Given the description of an element on the screen output the (x, y) to click on. 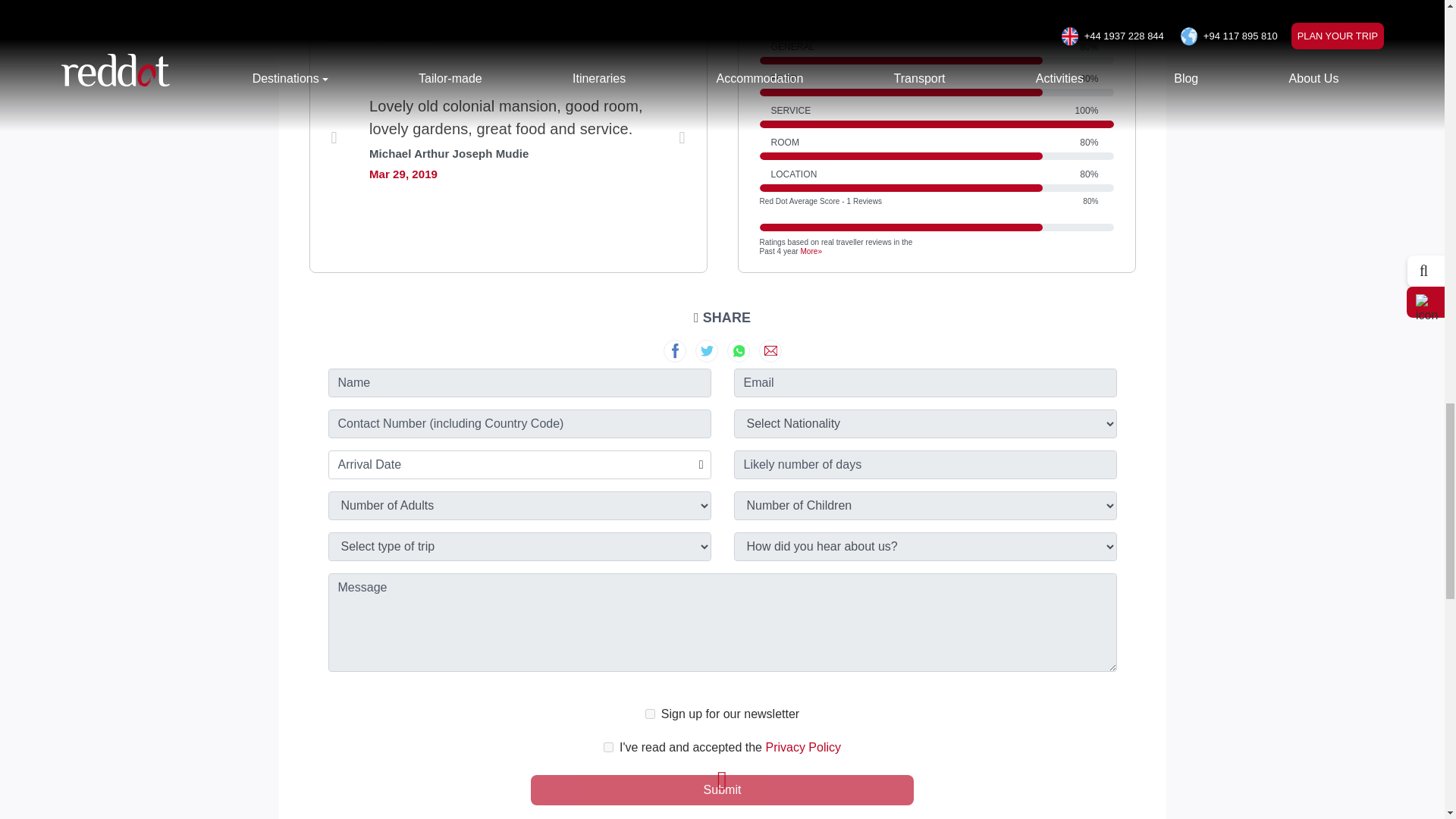
Submit (722, 789)
on (608, 747)
on (650, 714)
